Given the description of an element on the screen output the (x, y) to click on. 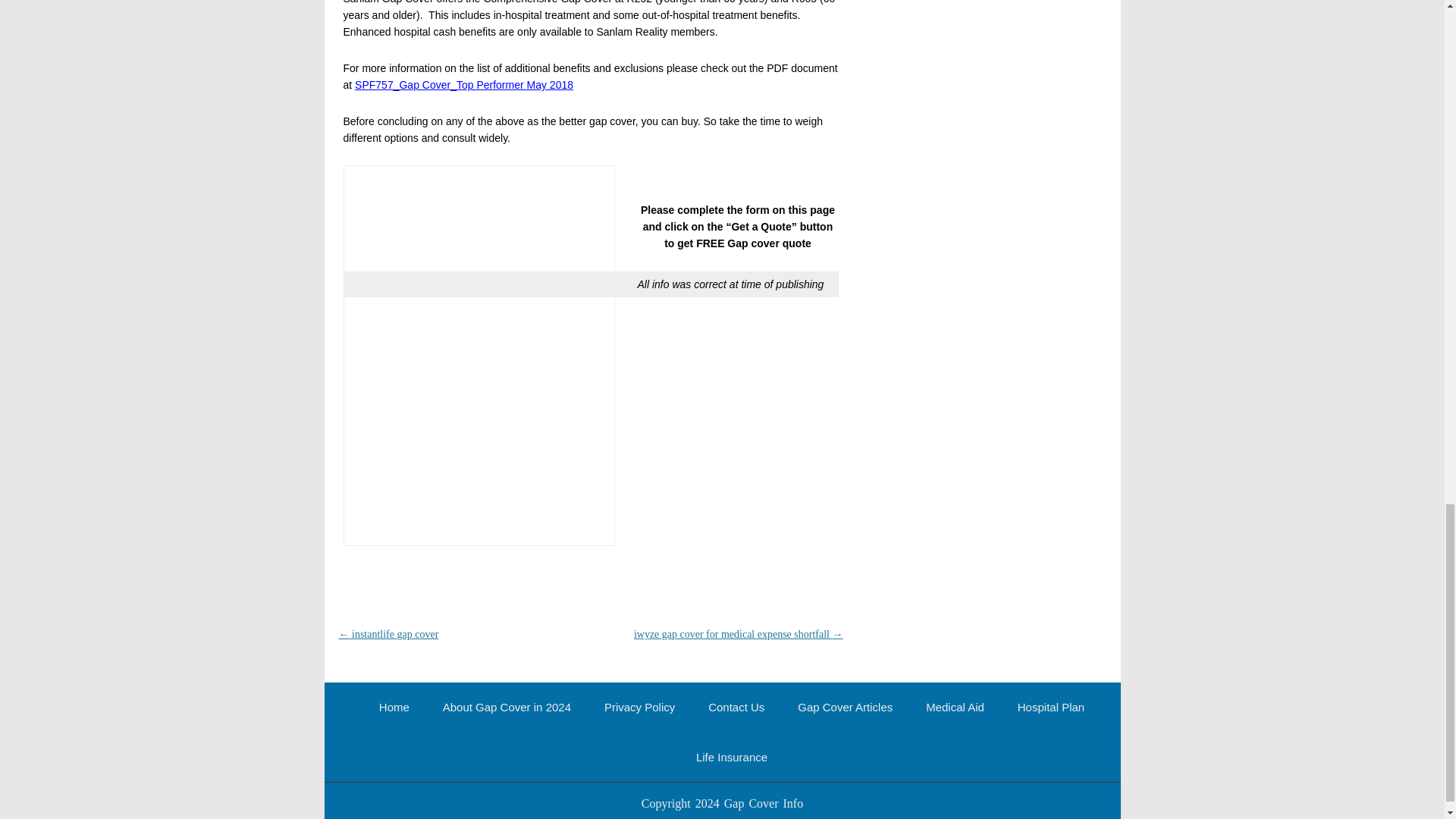
Gap Cover Articles (844, 707)
Life Insurance (731, 757)
Home (393, 707)
Medical Aid (955, 707)
Hospital Plan (1050, 707)
Privacy Policy (639, 707)
Contact Us (735, 707)
About Gap Cover in 2024 (506, 707)
